Given the description of an element on the screen output the (x, y) to click on. 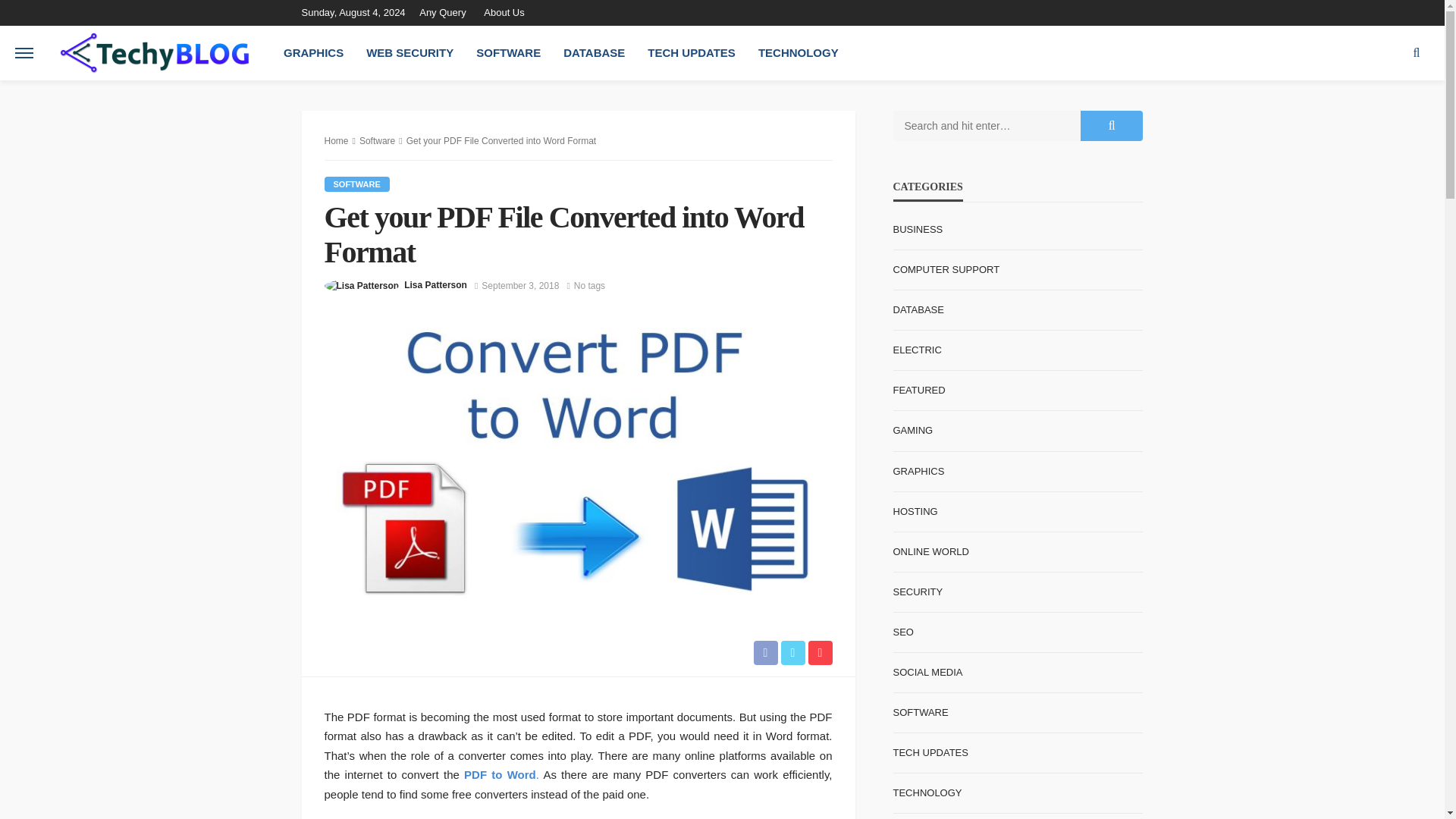
Lisa Patterson (435, 284)
About Us (503, 12)
Home (336, 140)
SOFTWARE (357, 183)
TECHNOLOGY (798, 52)
Software (357, 183)
DATABASE (593, 52)
WEB SECURITY (409, 52)
Software (376, 140)
Any Query (446, 12)
SOFTWARE (507, 52)
Techy Blog (153, 52)
GRAPHICS (313, 52)
PDF to Word. (501, 774)
TECH UPDATES (691, 52)
